Given the description of an element on the screen output the (x, y) to click on. 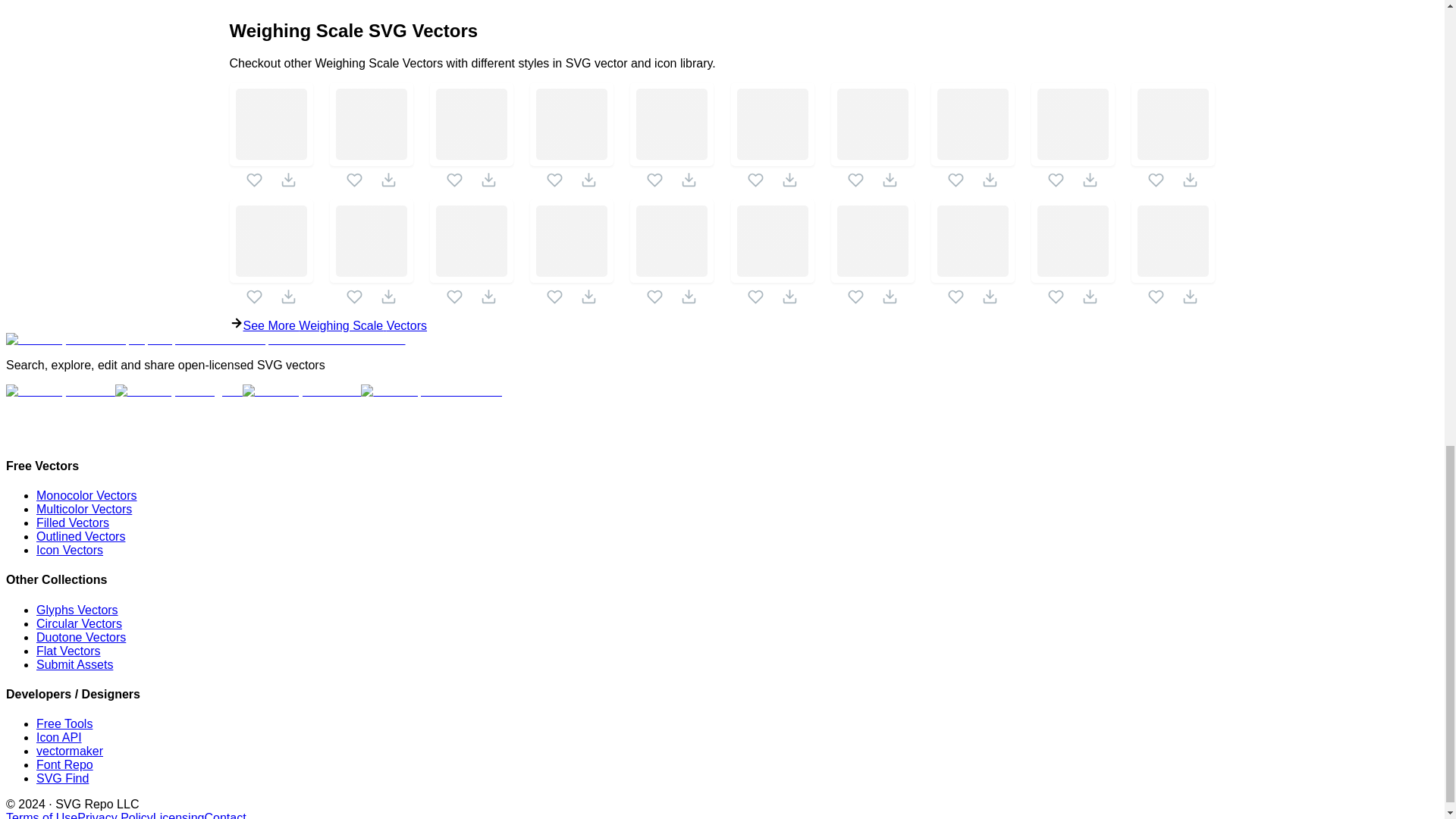
Circular Vectors (79, 623)
Submit Assets (74, 664)
Multicolor Vectors (84, 508)
Icon API (58, 737)
Outlined Vectors (80, 535)
Flat Vectors (68, 650)
Glyphs Vectors (76, 609)
Free Tools (64, 723)
See More Weighing Scale Vectors (721, 324)
Duotone Vectors (80, 636)
vectormaker (69, 750)
Icon Vectors (69, 549)
Monocolor Vectors (86, 495)
Filled Vectors (72, 522)
